Given the description of an element on the screen output the (x, y) to click on. 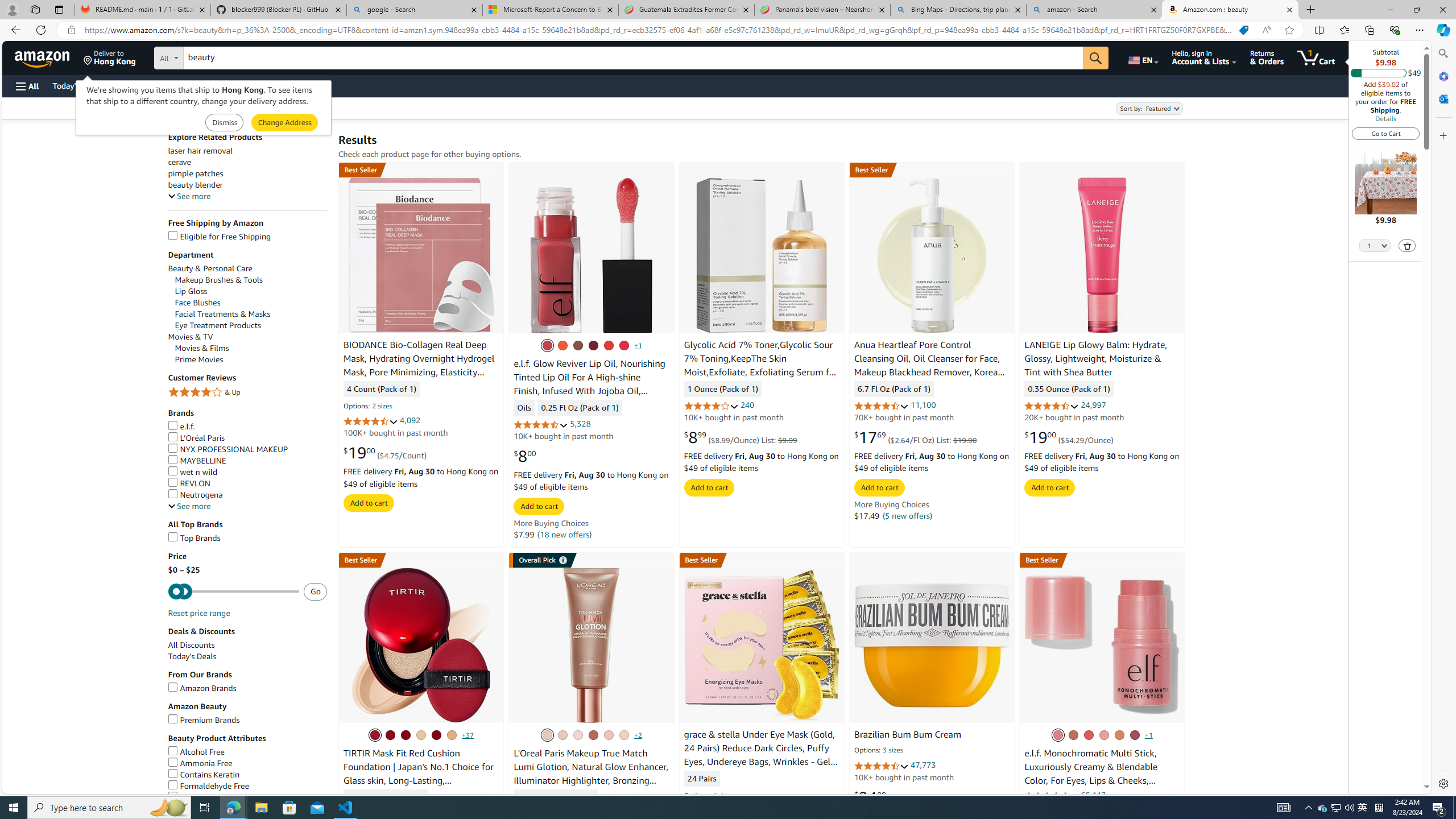
Eligible for Free Shipping (218, 236)
Eye Treatment Products (218, 325)
Amazon (43, 57)
REVLON (247, 483)
Sort by: (1148, 108)
Registry (205, 85)
Glimmering Guava (1088, 734)
Hypoallergenic (200, 797)
Hypoallergenic (247, 797)
All Discounts (191, 644)
Quantity Selector (1374, 245)
